Given the description of an element on the screen output the (x, y) to click on. 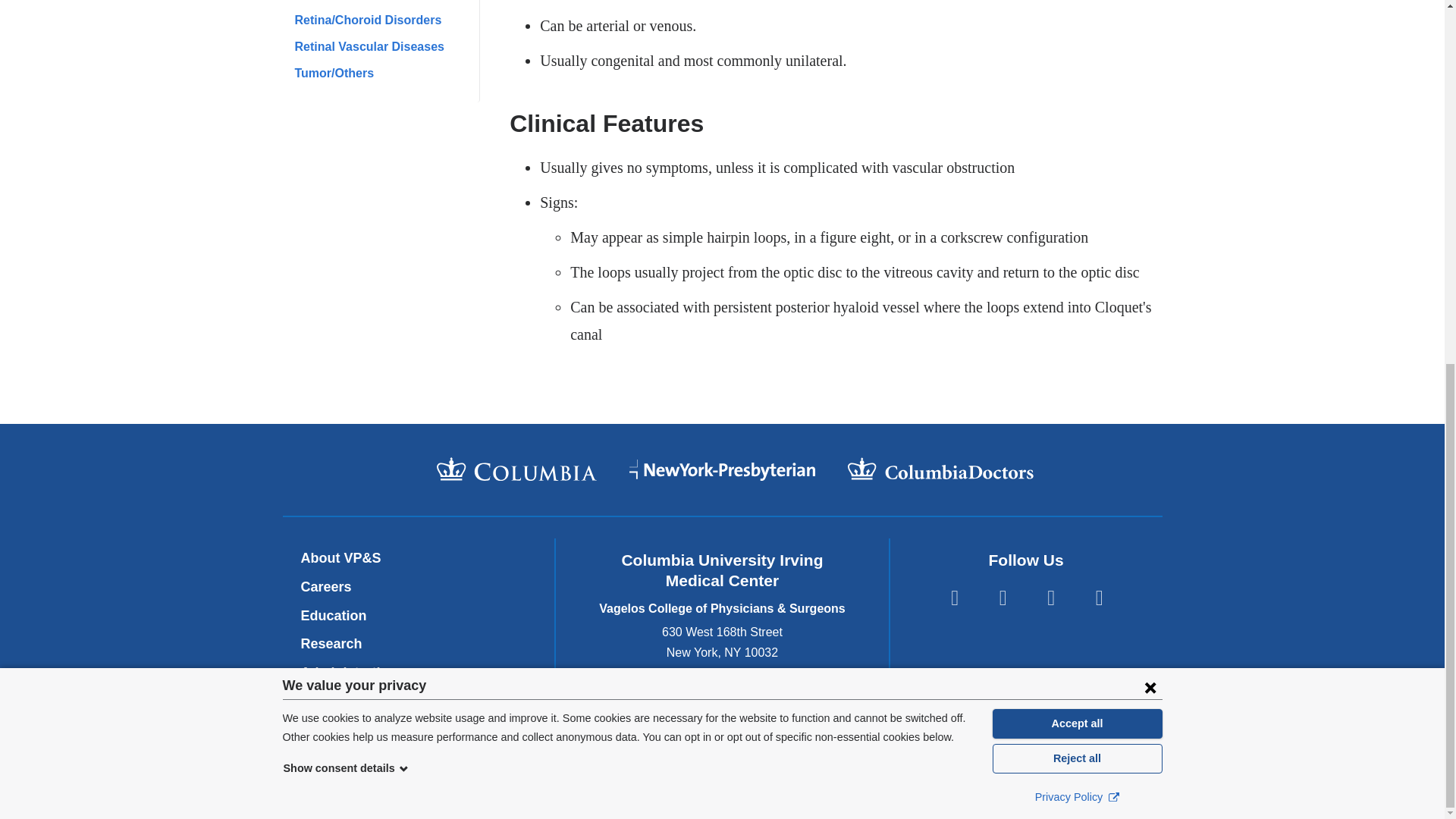
Privacy Policy External link Opens in a new window (1076, 147)
Reject all (1076, 108)
External link Opens in a new window (1113, 146)
Accept all (1076, 72)
Show consent details (346, 117)
